Given the description of an element on the screen output the (x, y) to click on. 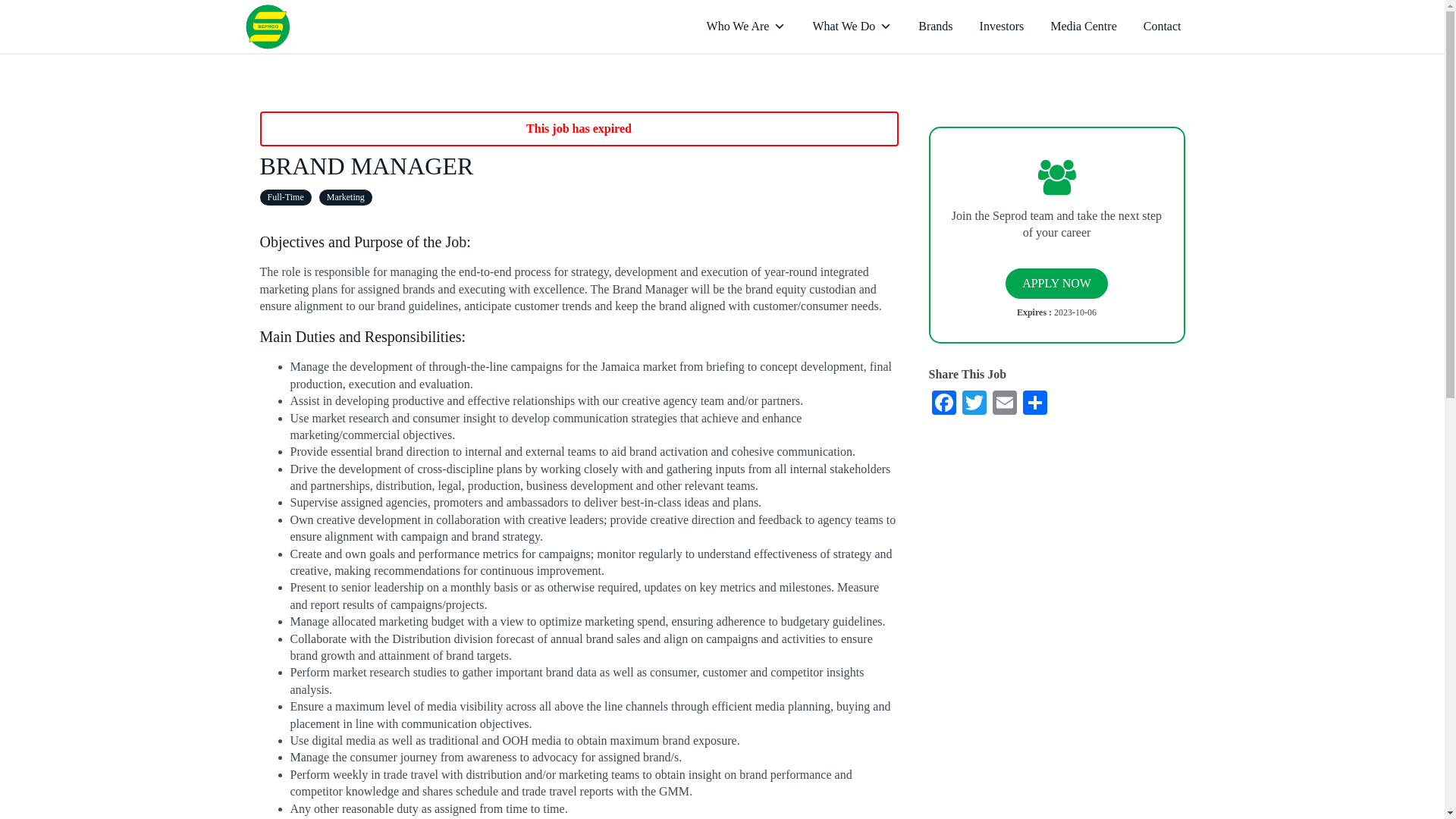
Twitter (973, 404)
Chat (1406, 779)
Email (1003, 404)
Facebook (943, 404)
Who We Are (745, 26)
